Given the description of an element on the screen output the (x, y) to click on. 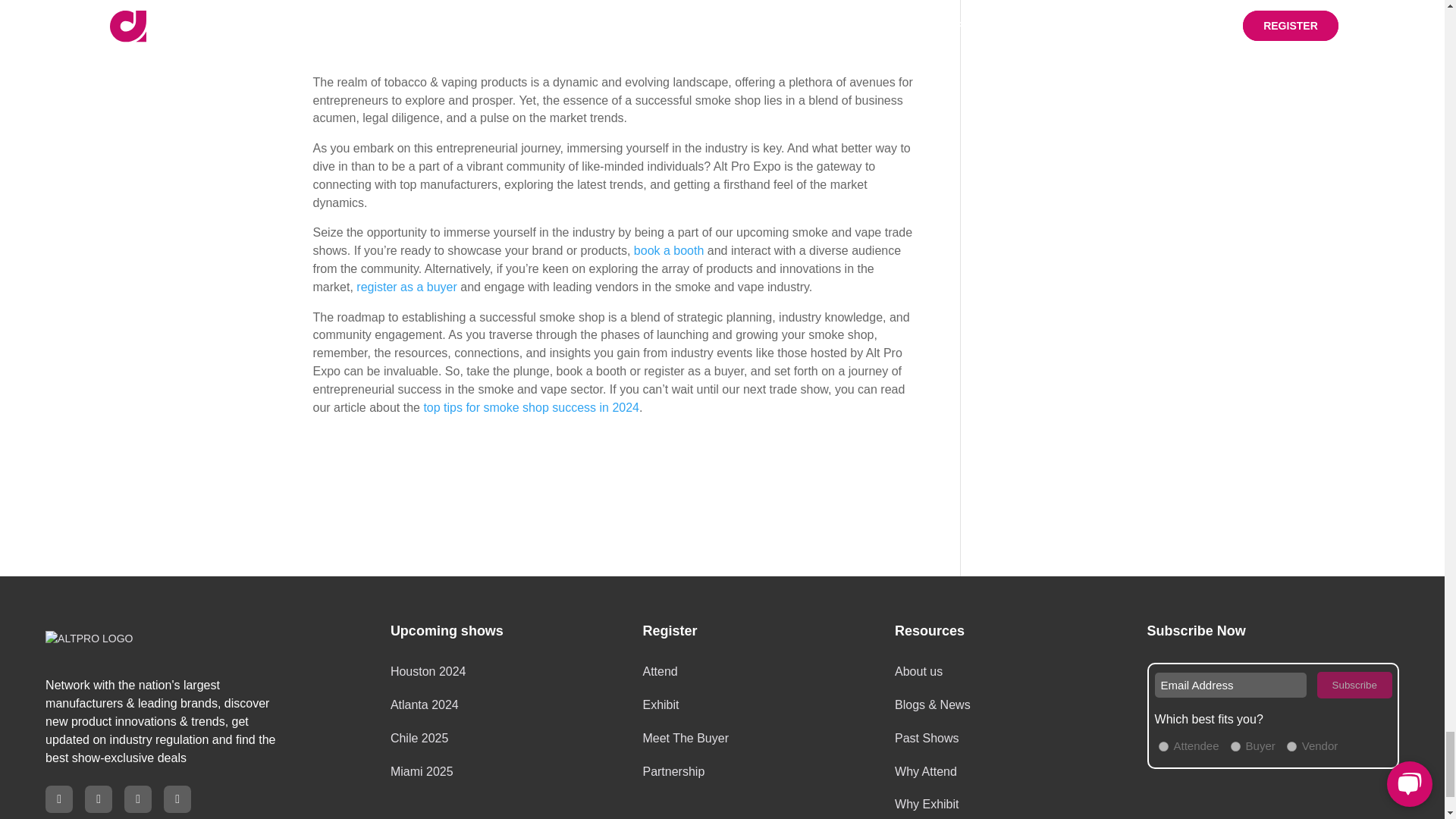
Subscribe (1354, 684)
Vendor (1292, 746)
Attendee (1163, 746)
YouTube video player (614, 36)
Buyer (1235, 746)
